Given the description of an element on the screen output the (x, y) to click on. 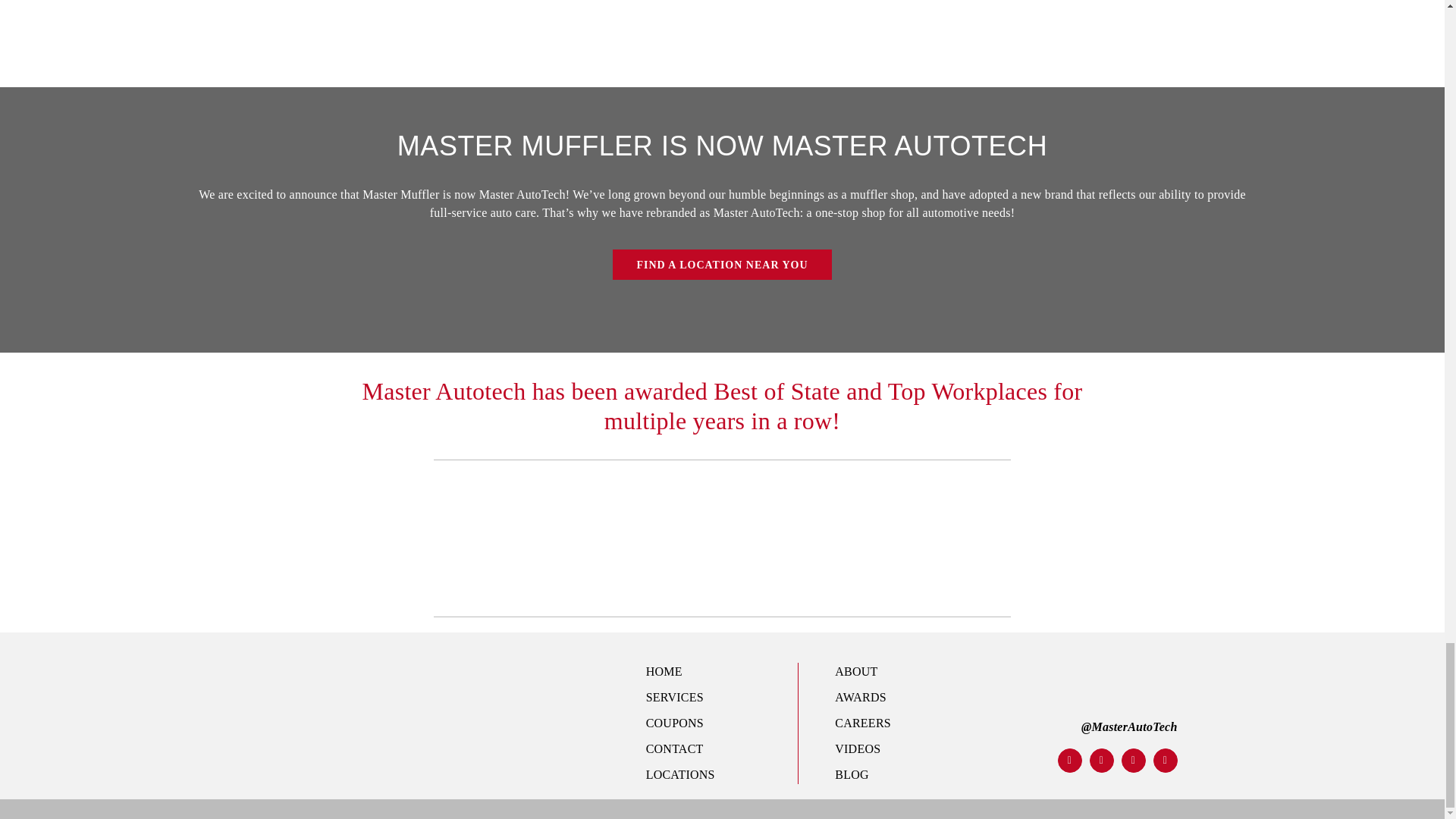
Instagram (1101, 760)
Rated Top Work Places by the SL Tribune (712, 538)
Winner Best of State (537, 532)
Facebook (1069, 760)
LinkedIn (1165, 760)
Tiktok (1133, 760)
logo-ase (897, 537)
